Given the description of an element on the screen output the (x, y) to click on. 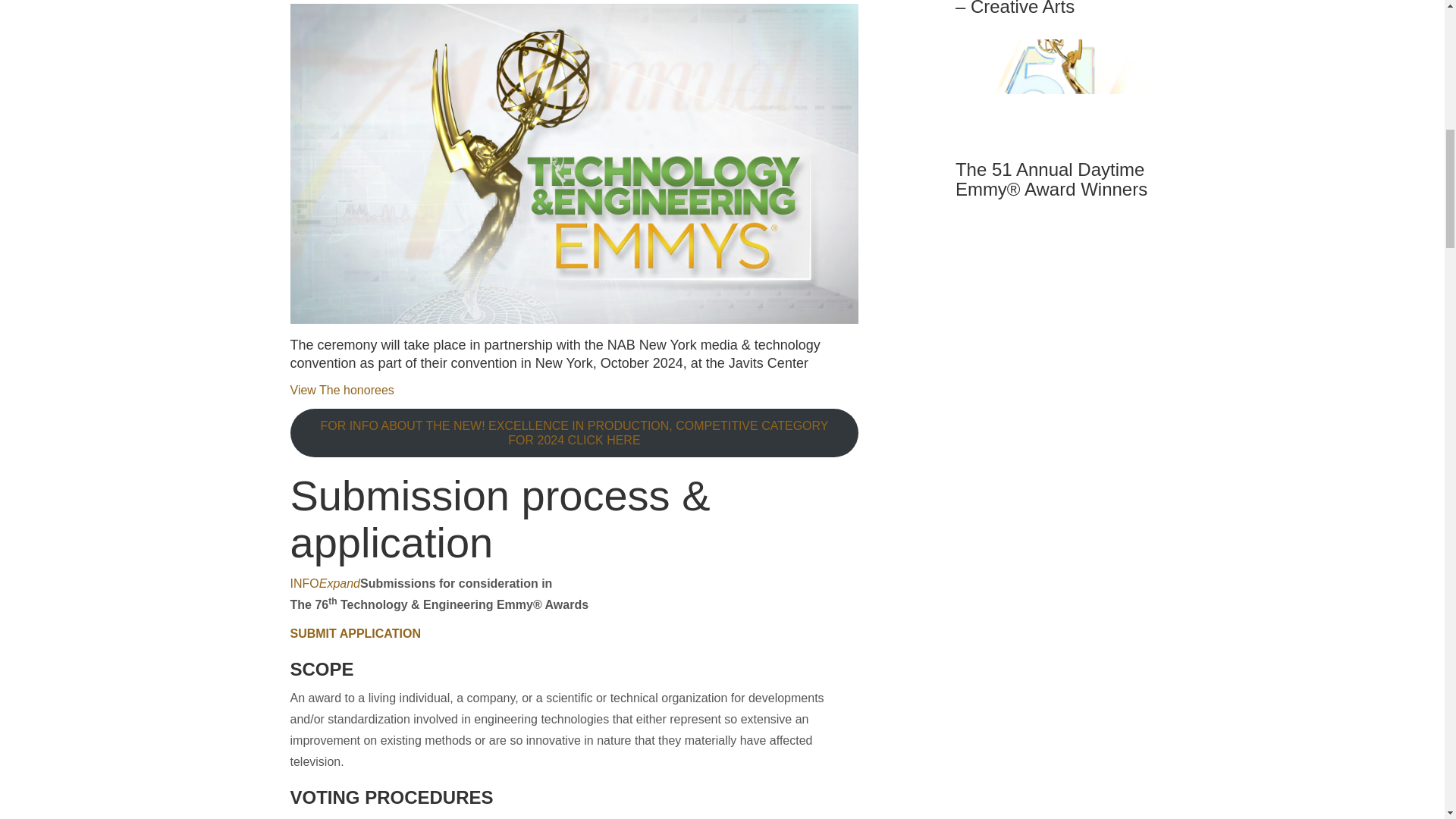
View The honorees (341, 390)
